Given the description of an element on the screen output the (x, y) to click on. 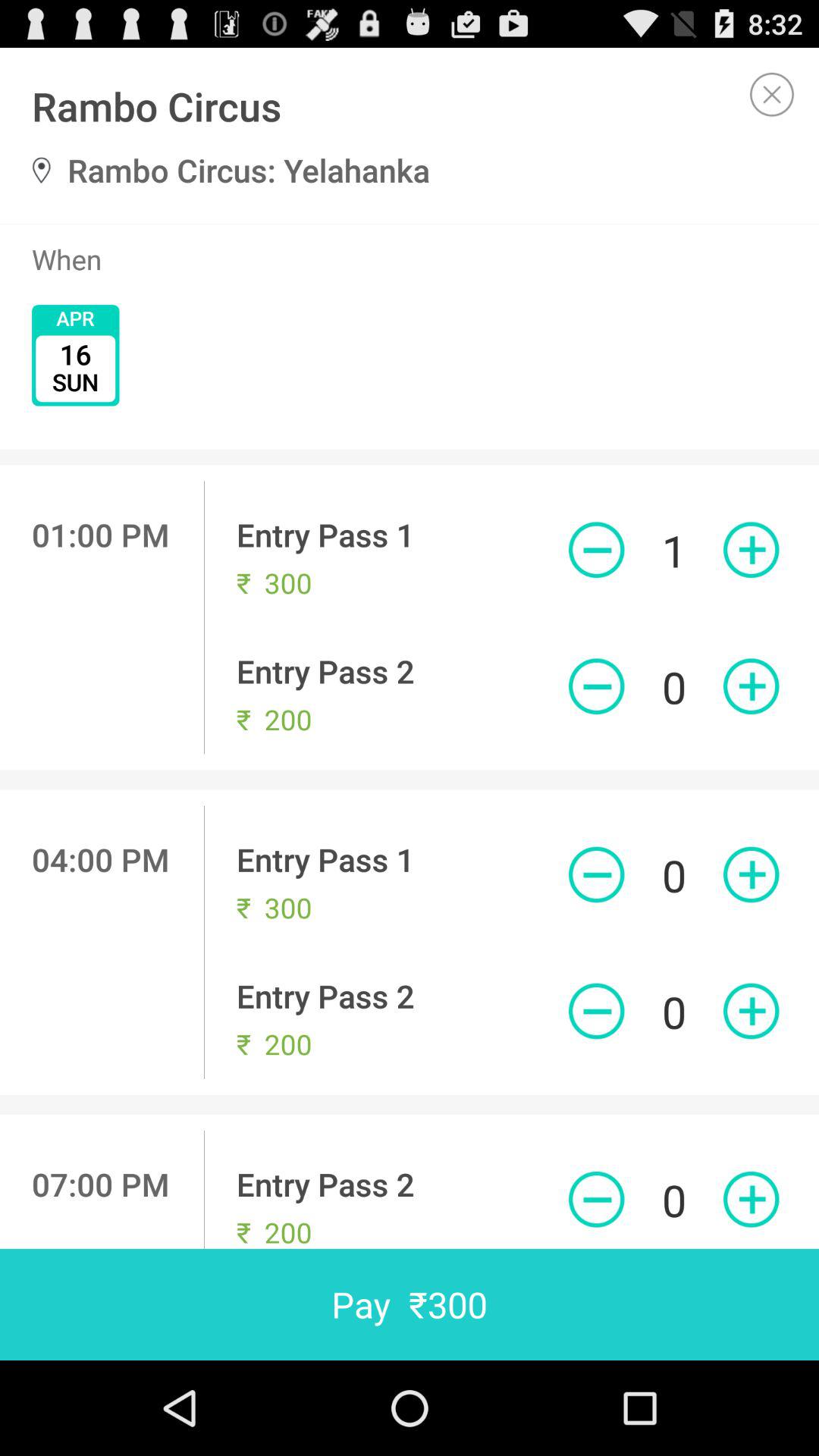
increase quantity (751, 874)
